Given the description of an element on the screen output the (x, y) to click on. 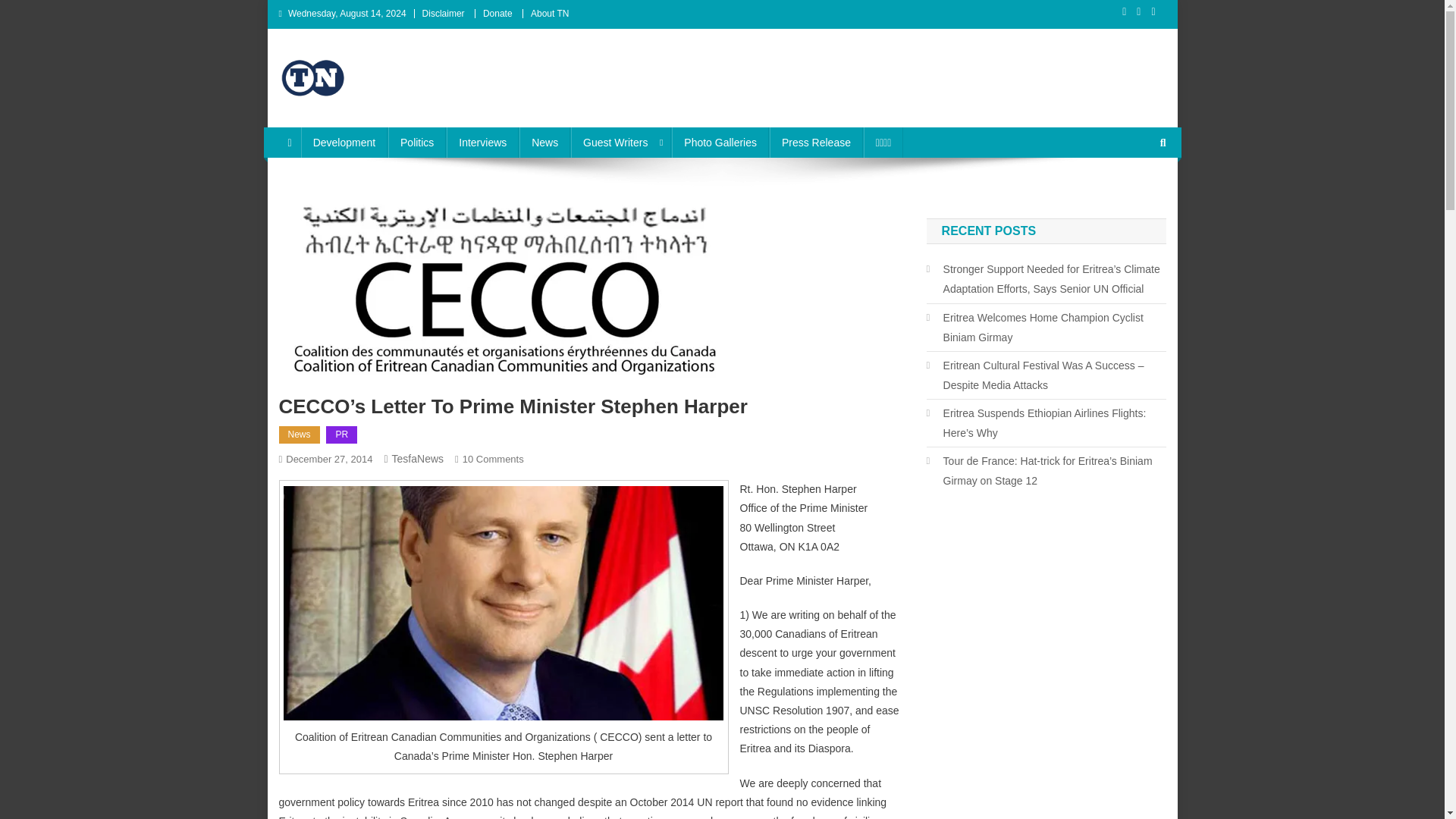
News (544, 142)
News (299, 434)
December 27, 2014 (328, 459)
TesfaNews (417, 458)
About TN (550, 13)
TesfaNews (341, 112)
PR (341, 434)
Photo Galleries (719, 142)
Donate (497, 13)
Search (1133, 193)
